Given the description of an element on the screen output the (x, y) to click on. 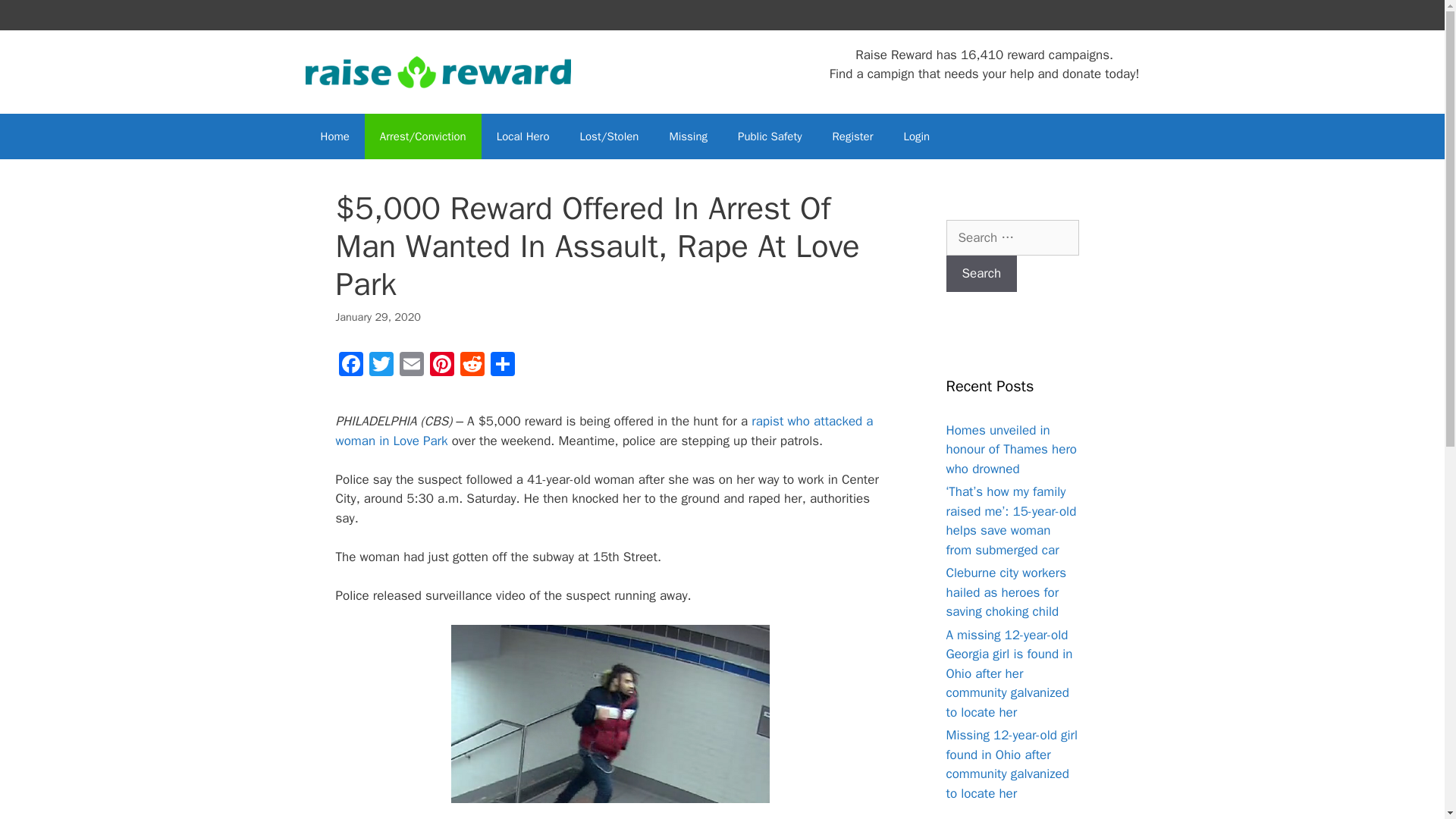
Pinterest (441, 366)
Reddit (471, 366)
Search (981, 273)
Twitter (380, 366)
Pinterest (441, 366)
Homes unveiled in honour of Thames hero who drowned (1011, 448)
Search (981, 273)
Facebook (349, 366)
rapist who attacked a woman in Love Park (603, 430)
Email (411, 366)
Search (981, 273)
Email (411, 366)
Share (501, 366)
